Given the description of an element on the screen output the (x, y) to click on. 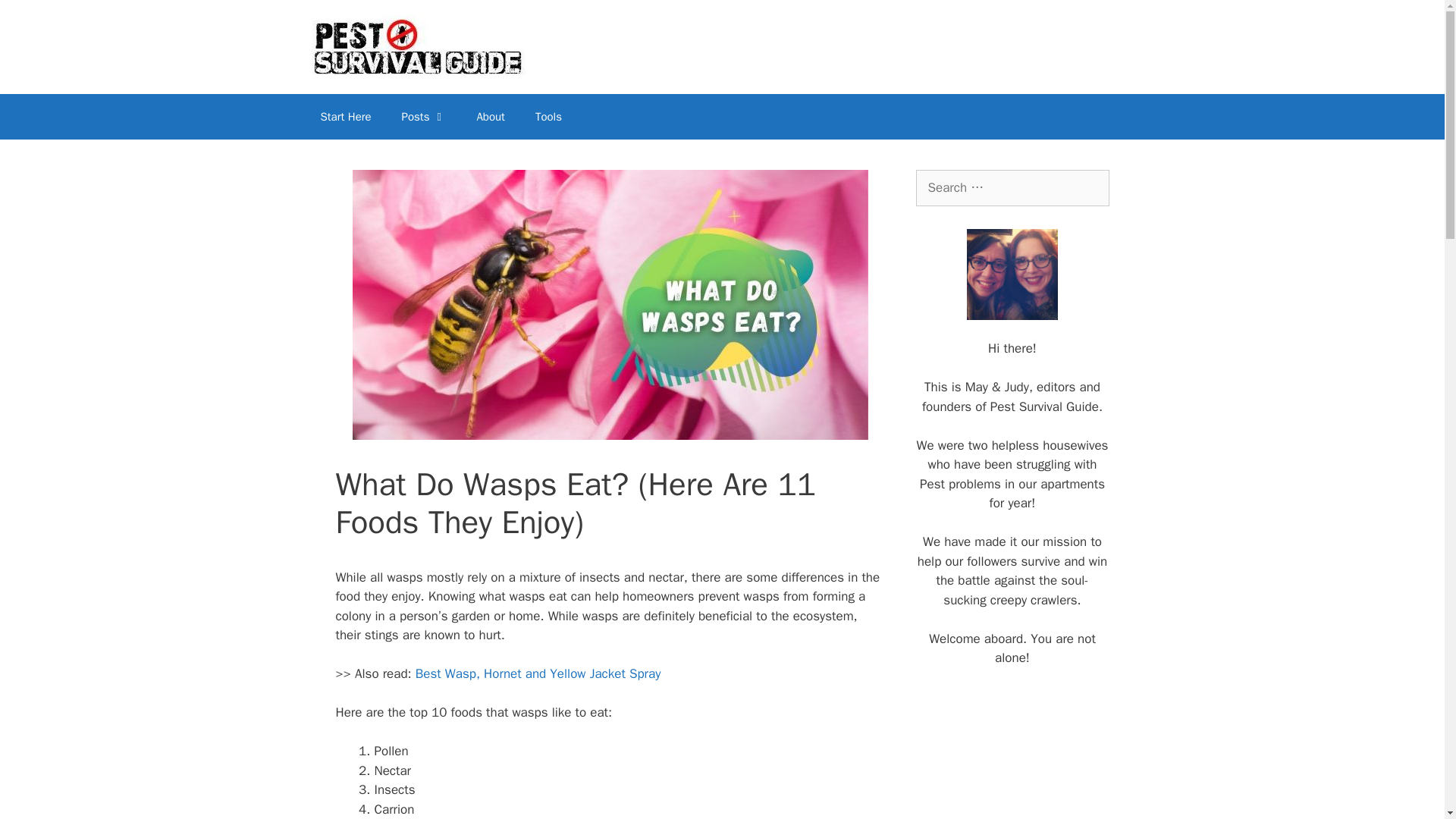
Best Wasp, Hornet and Yellow Jacket Spray (537, 673)
Tools (547, 116)
Search for: (1012, 187)
Start Here (344, 116)
Search (35, 18)
About (490, 116)
Posts (424, 116)
